Given the description of an element on the screen output the (x, y) to click on. 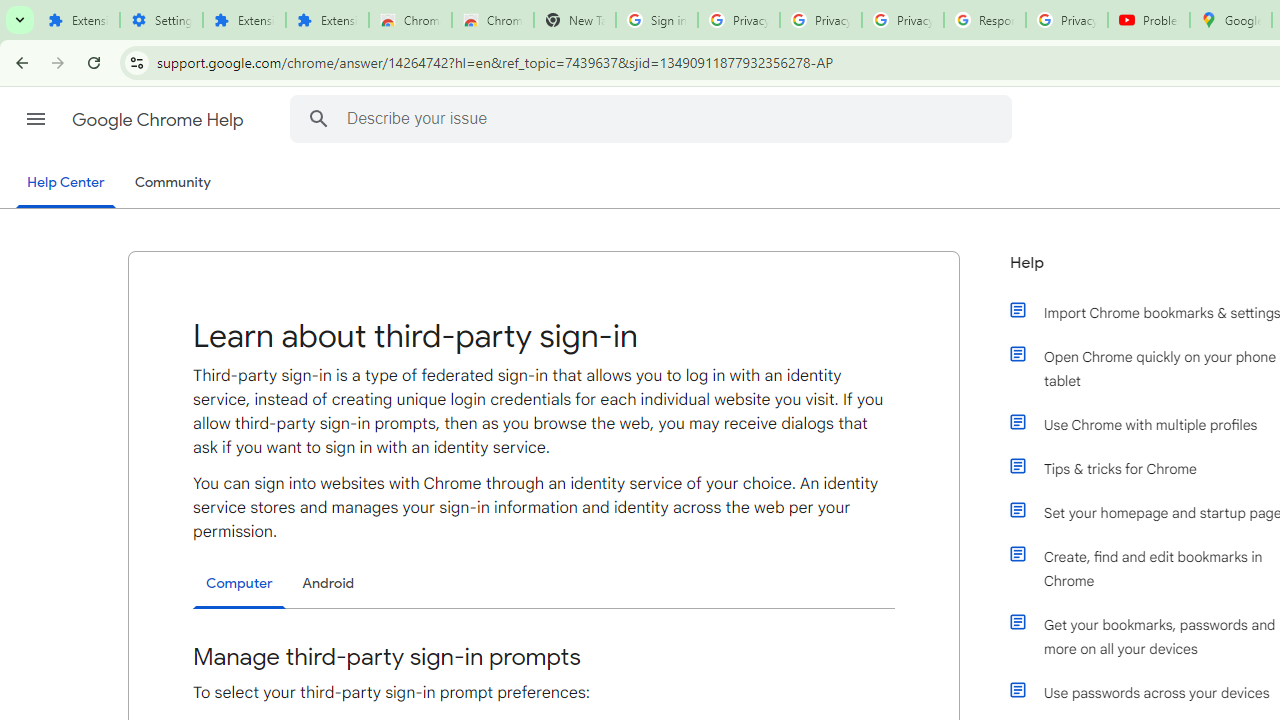
Extensions (78, 20)
Chrome Web Store - Themes (492, 20)
New Tab (574, 20)
Describe your issue (653, 118)
